Given the description of an element on the screen output the (x, y) to click on. 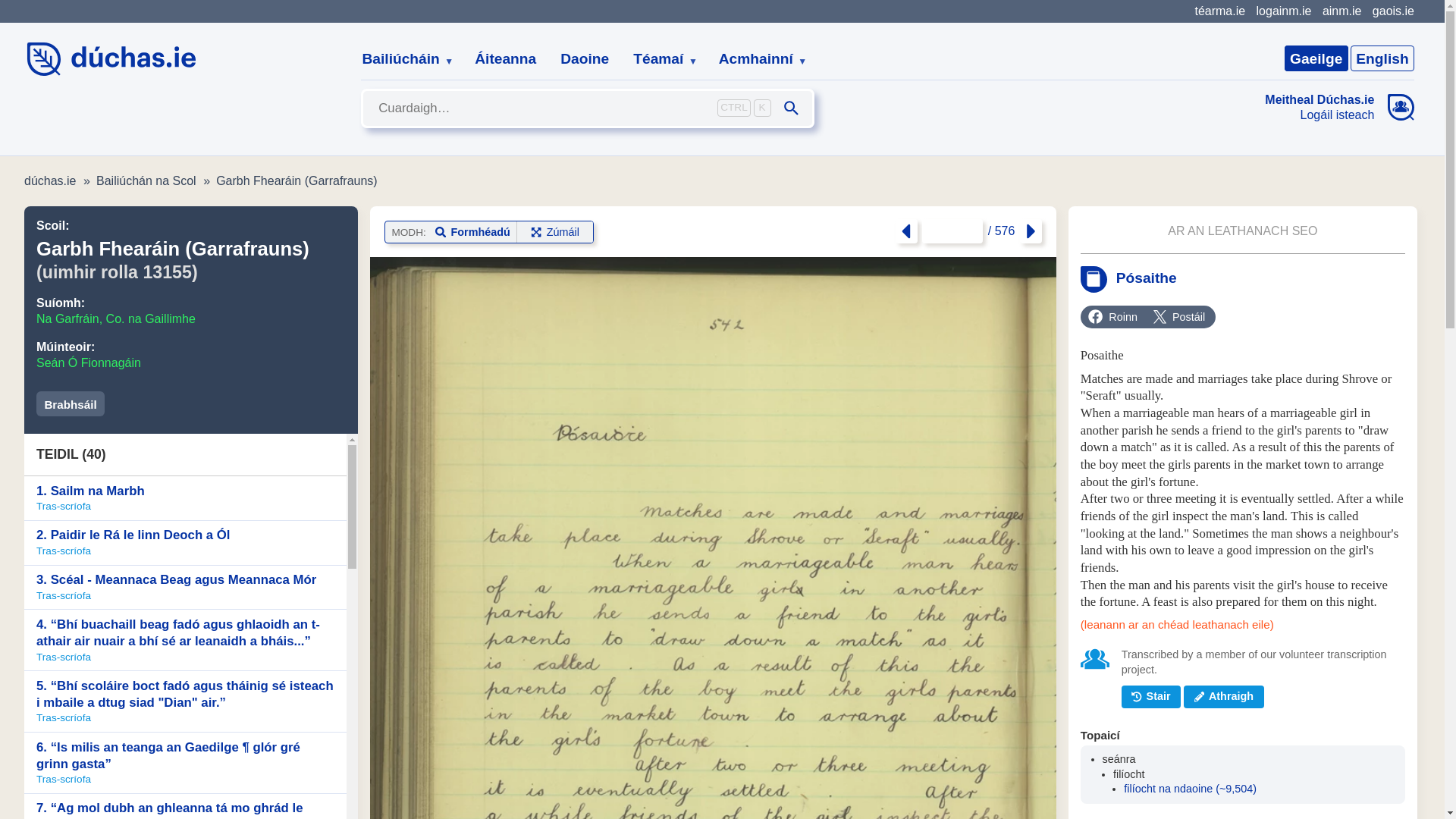
Daoine (584, 58)
gaois.ie (1393, 11)
ainm.ie (1341, 11)
logainm.ie (1283, 11)
English (1382, 58)
Gaeilge (1316, 58)
